Given the description of an element on the screen output the (x, y) to click on. 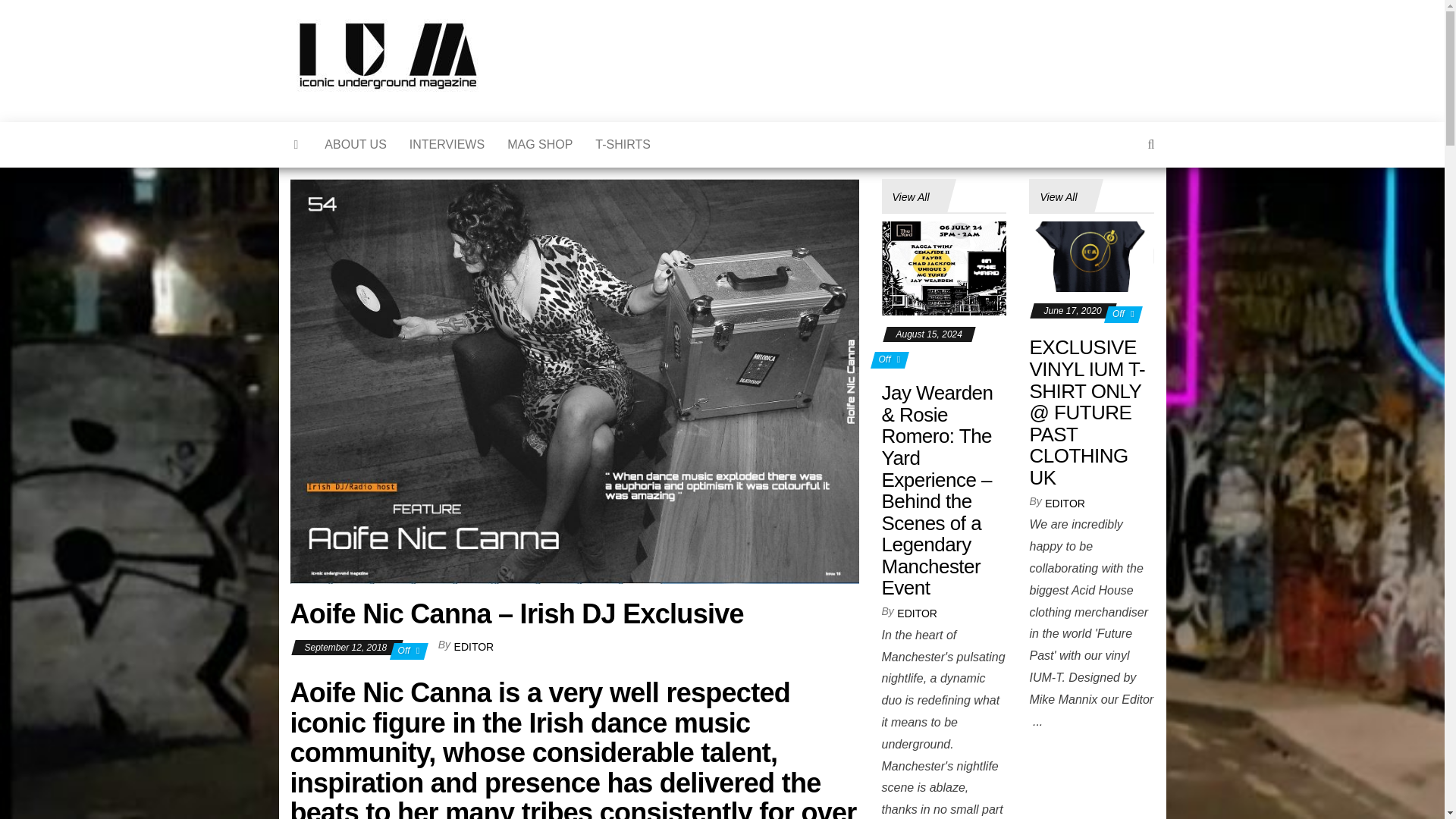
About Us (355, 144)
Mag Shop (539, 144)
View All (909, 197)
T-Shirts (622, 144)
EDITOR (916, 613)
MAG SHOP (539, 144)
Iconic Underground Magazine (534, 64)
INTERVIEWS (446, 144)
EDITOR (474, 646)
Interviews (446, 144)
